Given the description of an element on the screen output the (x, y) to click on. 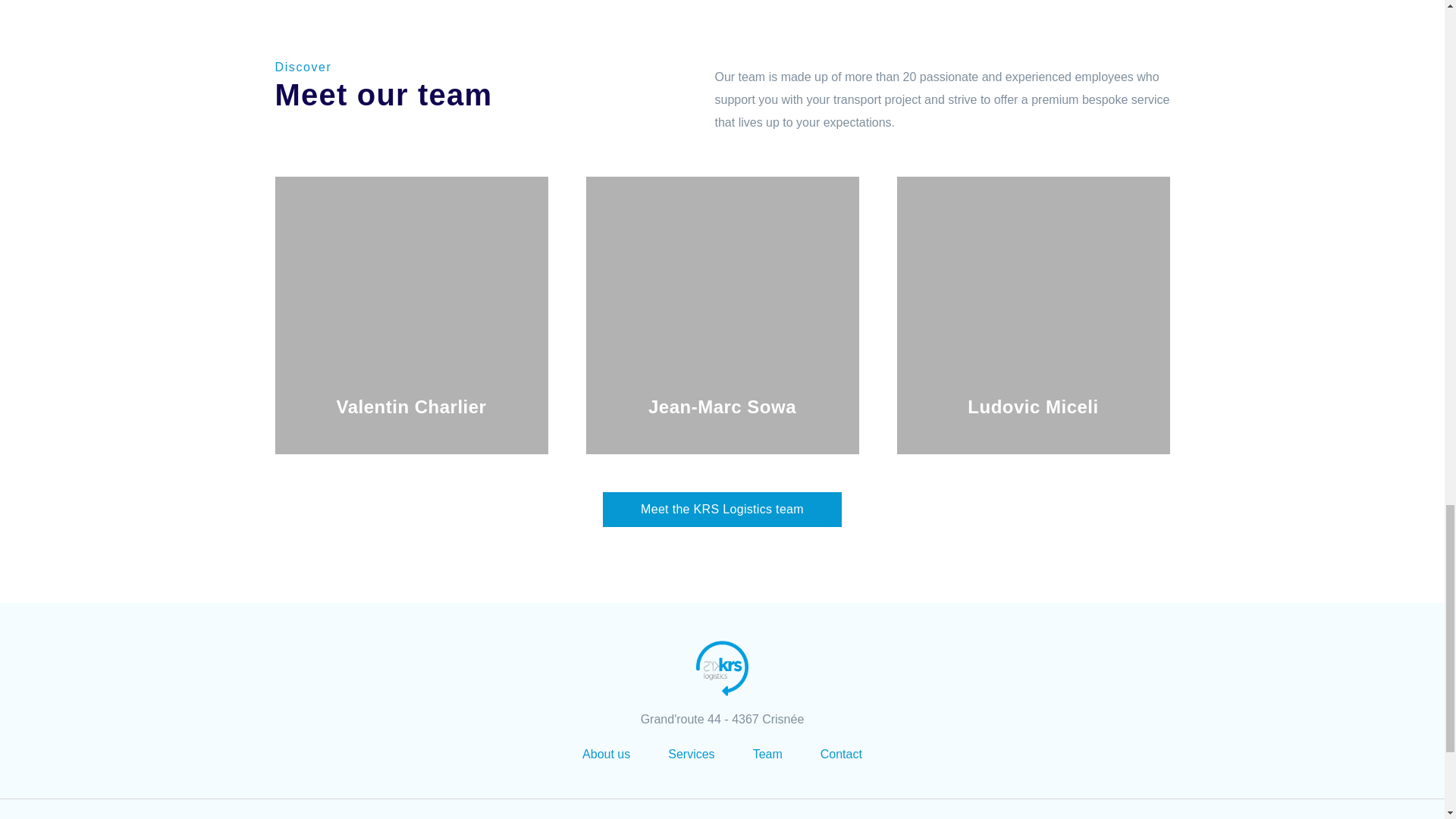
Team (767, 753)
About us (606, 753)
Services (691, 753)
Contact (841, 753)
Meet the KRS Logistics team (721, 509)
